Given the description of an element on the screen output the (x, y) to click on. 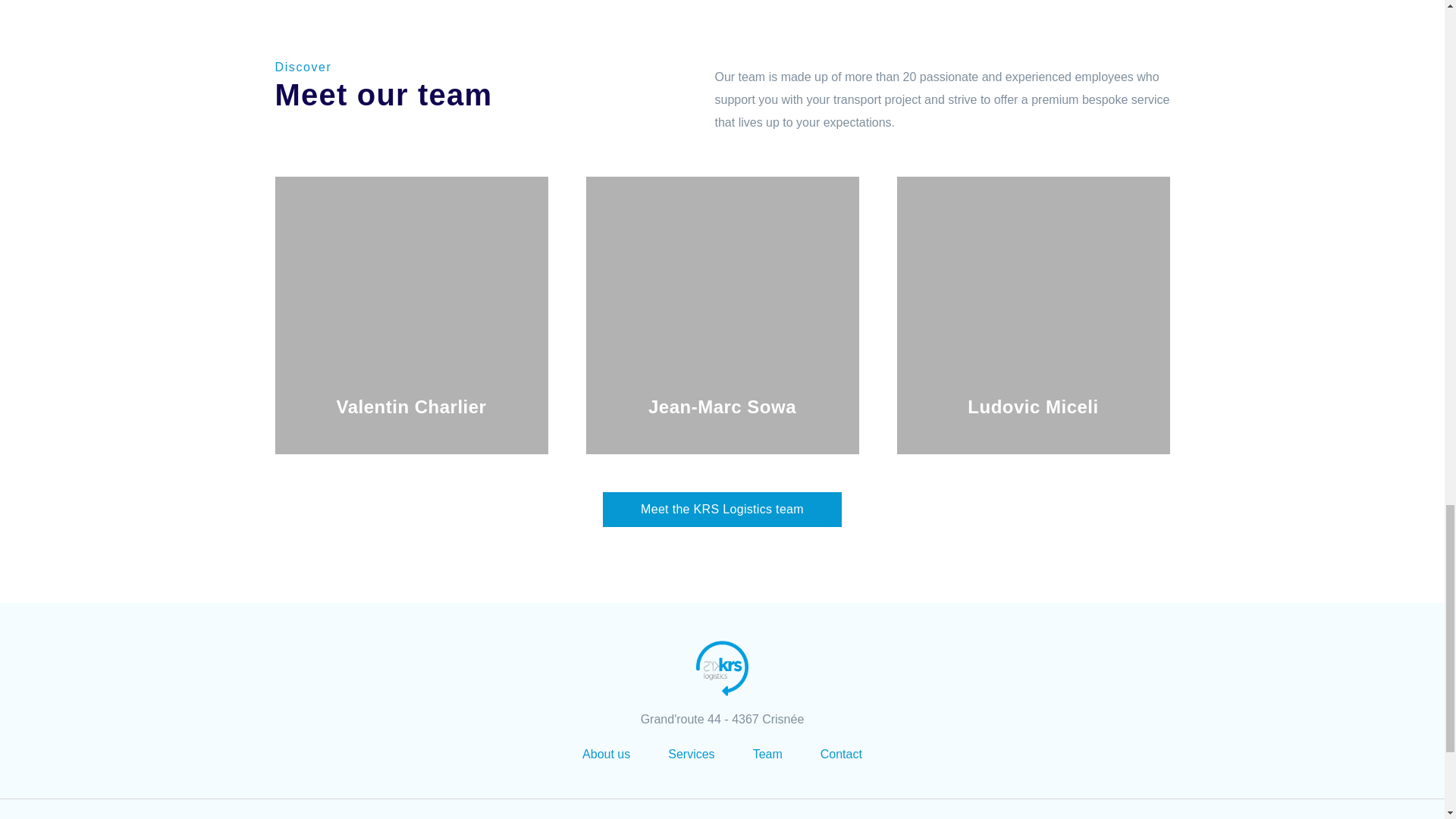
Team (767, 753)
About us (606, 753)
Services (691, 753)
Contact (841, 753)
Meet the KRS Logistics team (721, 509)
